Given the description of an element on the screen output the (x, y) to click on. 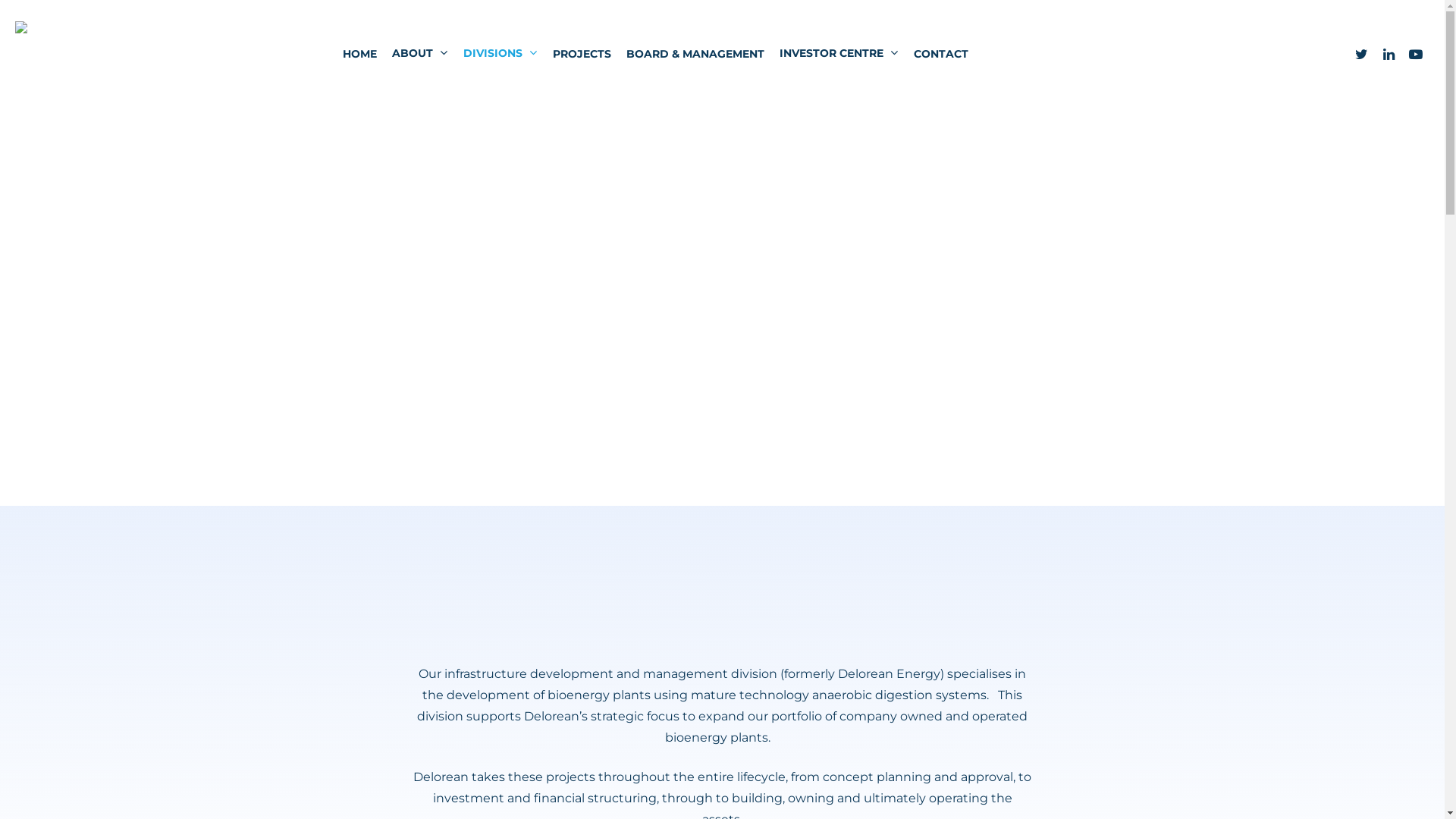
PROJECTS Element type: text (581, 53)
INVESTOR CENTRE Element type: text (838, 53)
HOME Element type: text (359, 53)
CONTACT Element type: text (940, 53)
DIVISIONS Element type: text (499, 53)
ABOUT Element type: text (419, 53)
BOARD & MANAGEMENT Element type: text (694, 53)
